Given the description of an element on the screen output the (x, y) to click on. 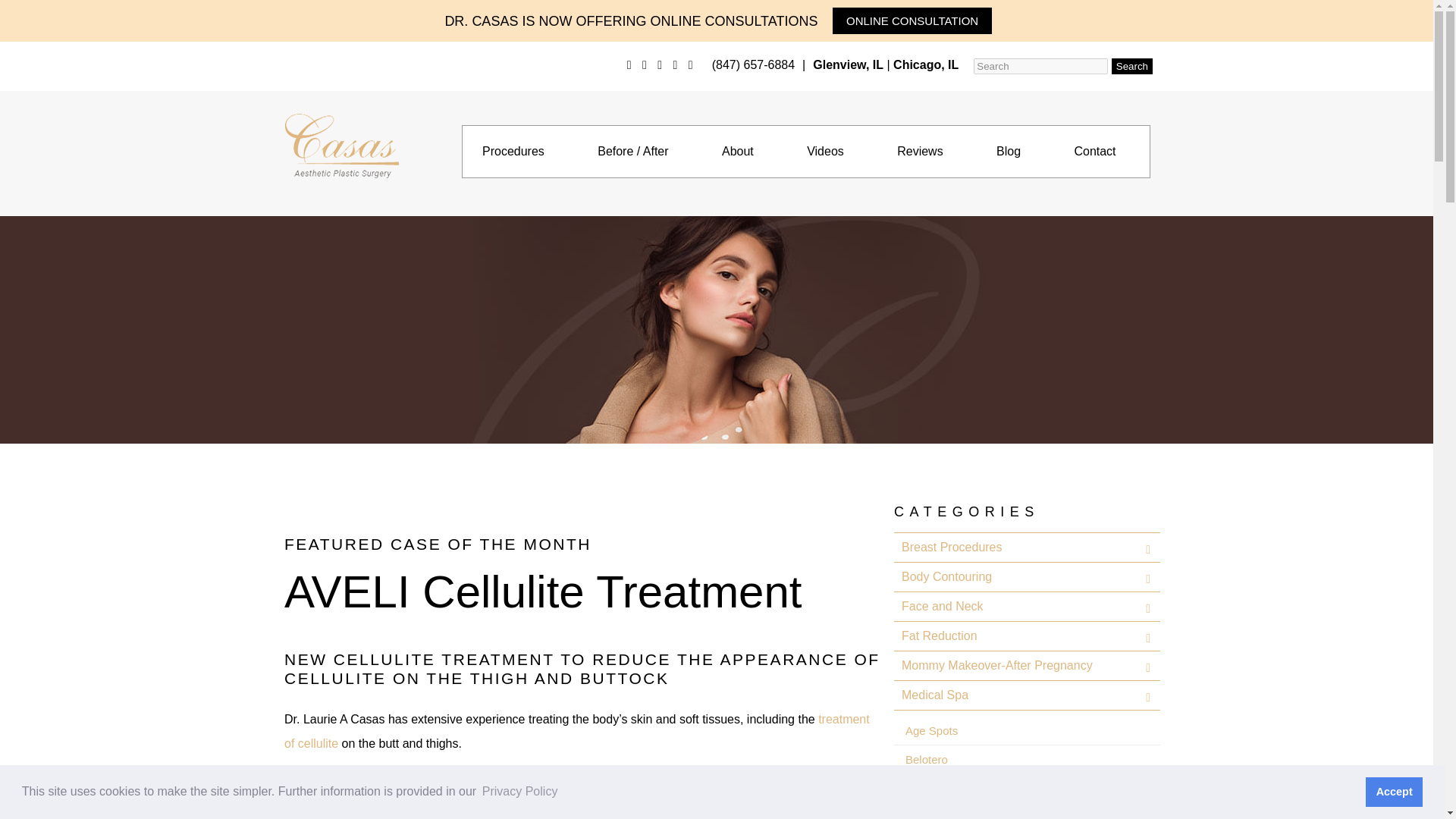
Search (1132, 66)
Privacy Policy (520, 791)
Search (1132, 66)
Procedures (513, 151)
ONLINE CONSULTATION (911, 20)
Accept (1393, 791)
